Given the description of an element on the screen output the (x, y) to click on. 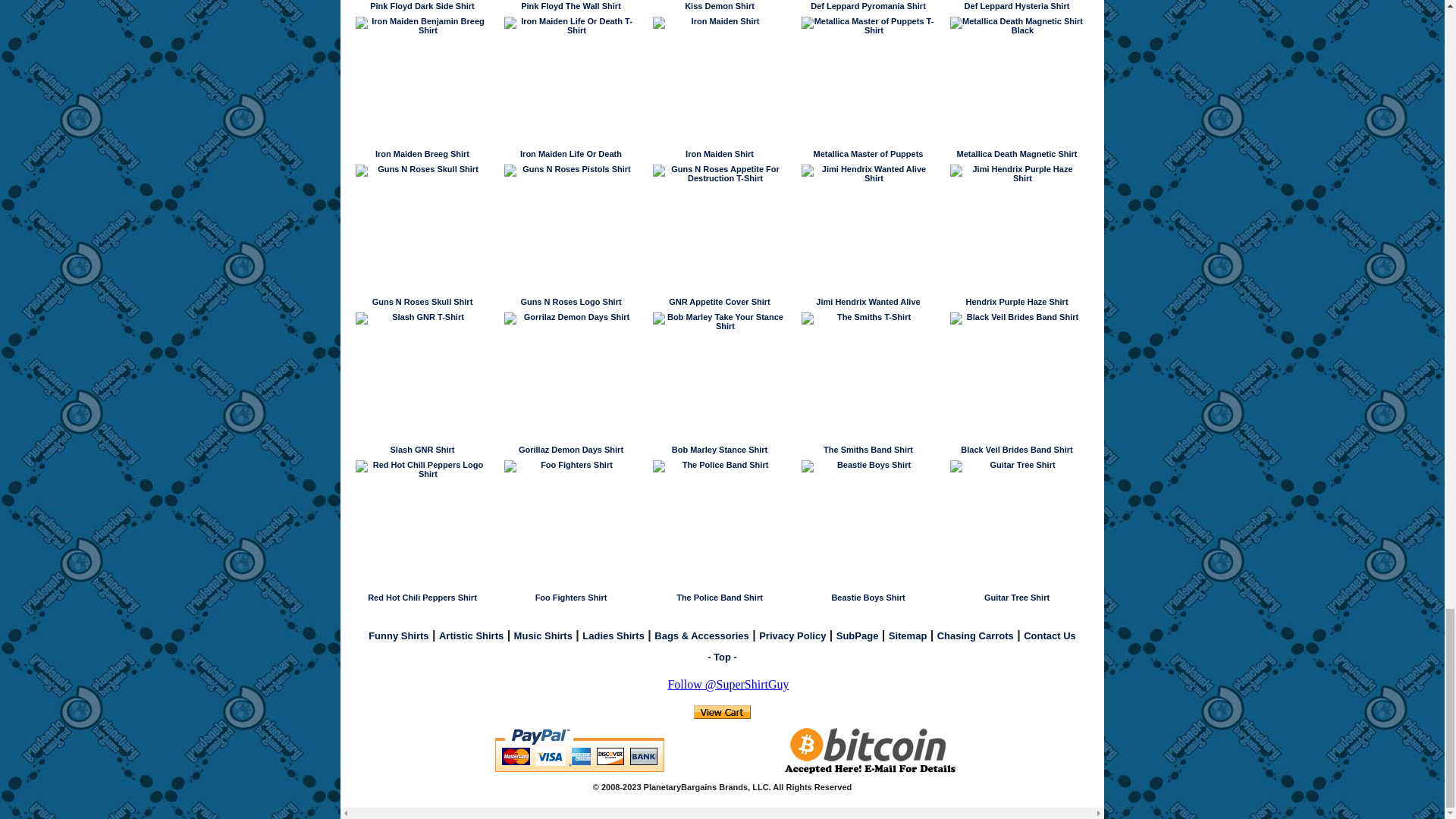
- Top - (721, 656)
Back To Top (721, 656)
Ladies T-Shirts (613, 635)
Music Shirts (542, 635)
Funny Shirts (398, 635)
Ladies Shirts (613, 635)
Ladies Bags (701, 635)
SubPage (857, 635)
Artistic Shirts (471, 635)
Sitemap (907, 635)
Chasing Carrots (975, 635)
Contact Us (1049, 635)
Not Working? Try Reloading (722, 712)
Privacy Policy (791, 635)
